Given the description of an element on the screen output the (x, y) to click on. 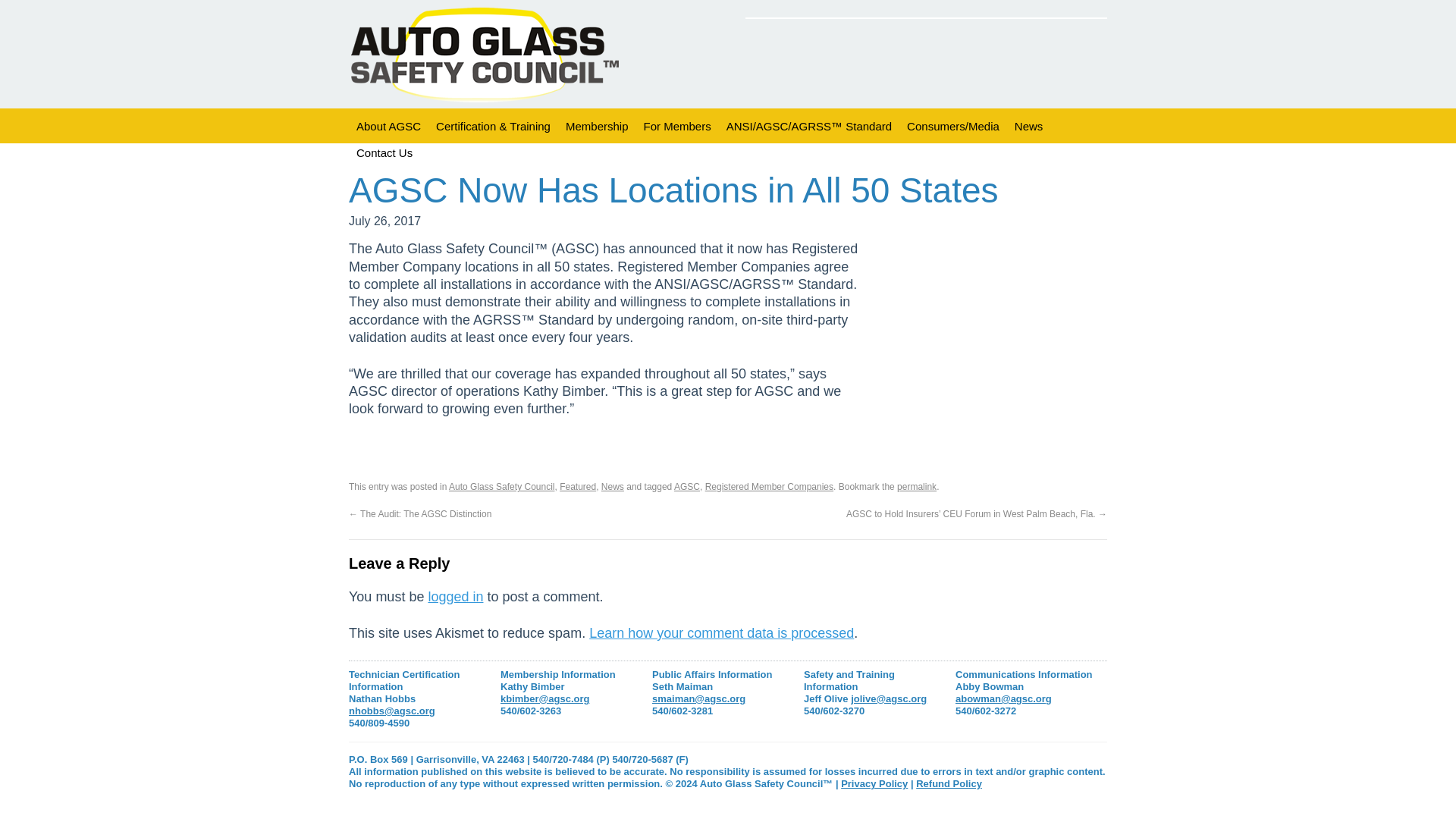
Permalink to AGSC Now Has Locations in All 50 States (916, 486)
For Members (675, 126)
Membership (596, 126)
About AGSC (388, 126)
